Given the description of an element on the screen output the (x, y) to click on. 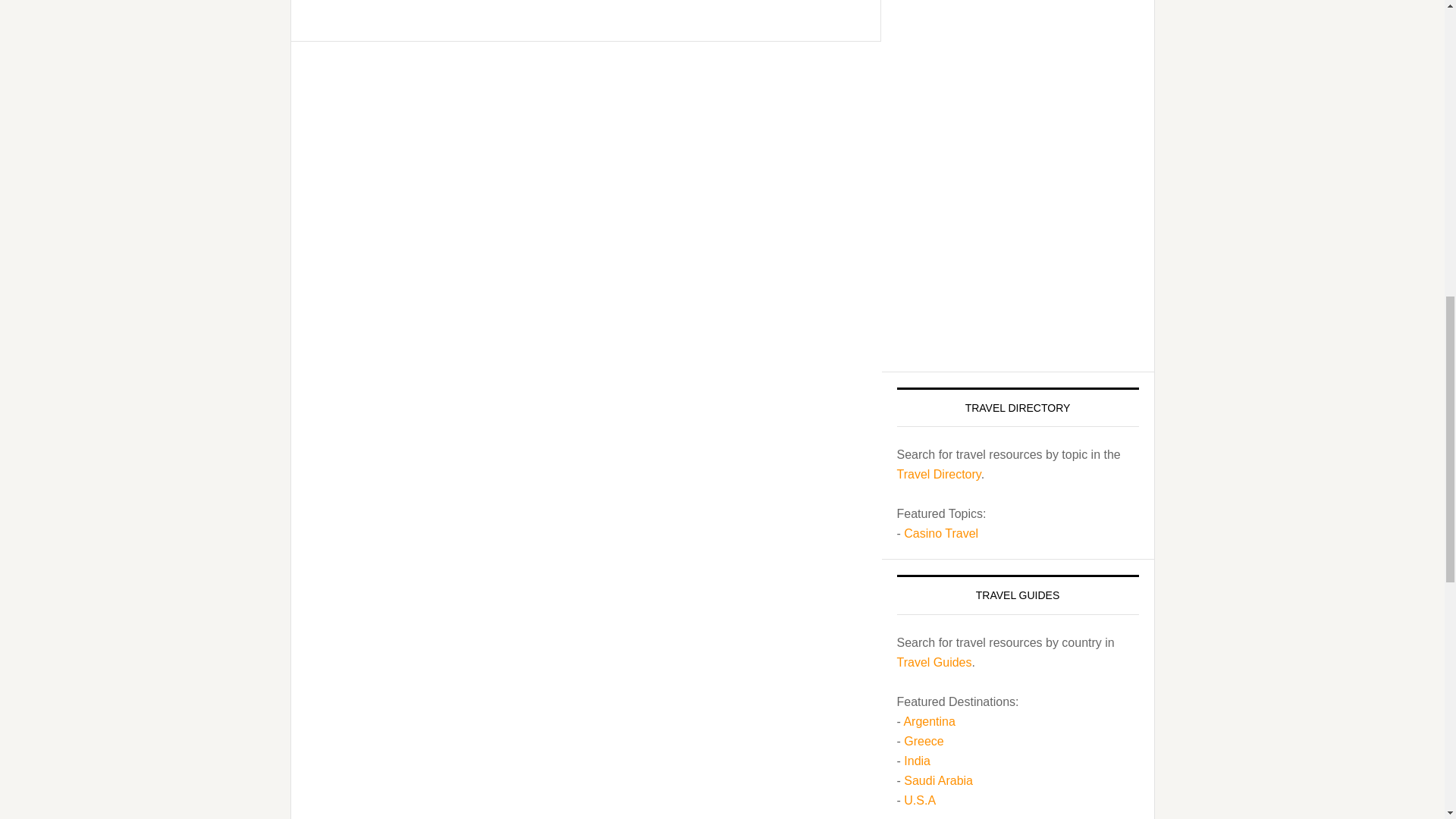
Casino Travel (941, 533)
Argentina (928, 721)
Greece (923, 740)
India (917, 760)
U.S.A (920, 799)
Travel Directory (937, 473)
Travel Guides (933, 662)
Saudi Arabia (938, 780)
